Given the description of an element on the screen output the (x, y) to click on. 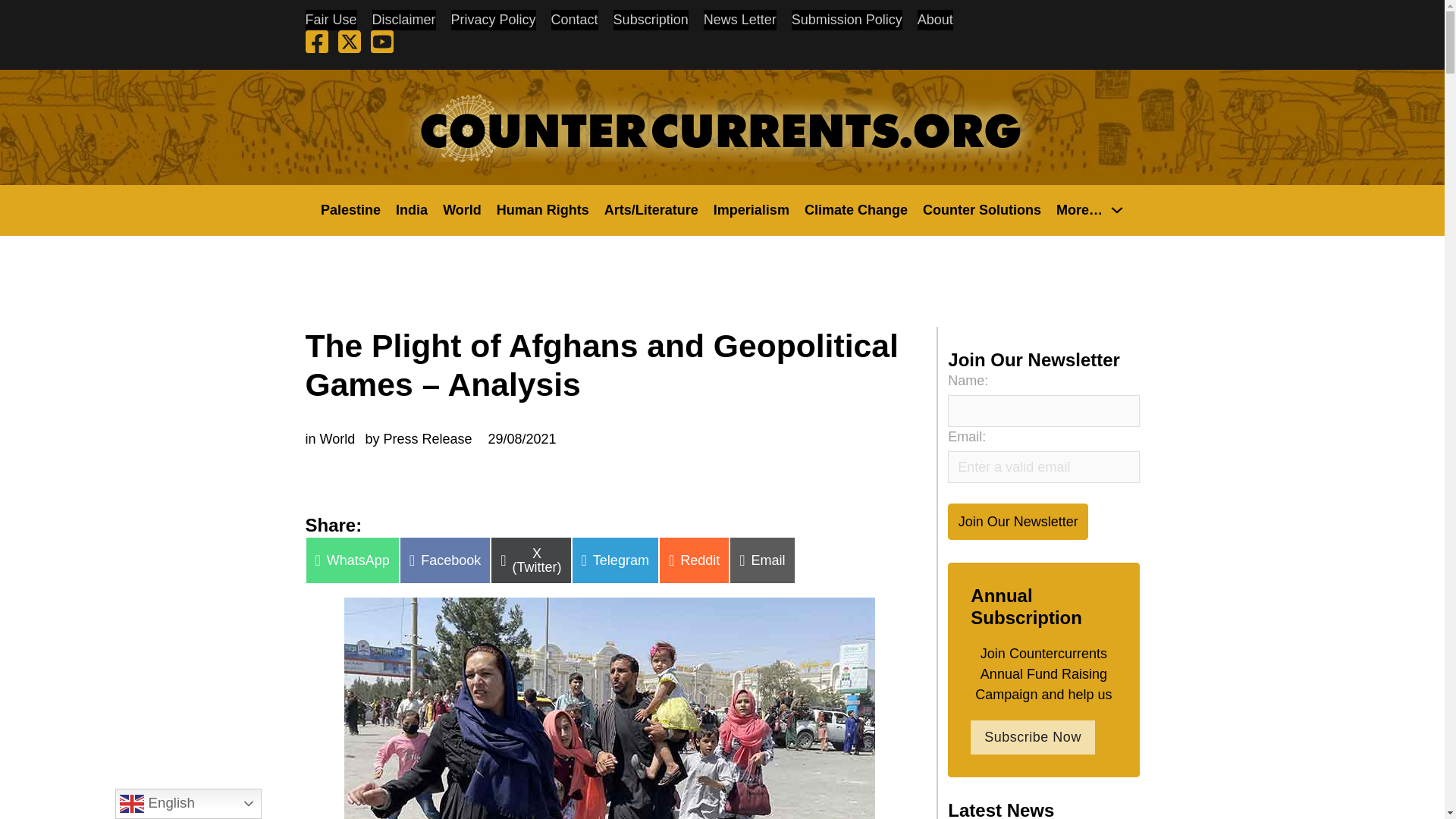
World (461, 209)
India (412, 209)
Privacy Policy (493, 19)
Subscription (650, 19)
About (935, 19)
News Letter (739, 19)
Human Rights (542, 209)
Imperialism (751, 209)
Climate Change (856, 209)
Palestine (350, 209)
Join Our Newsletter (1017, 520)
Submission Policy (847, 19)
Counter Solutions (982, 209)
Contact (574, 19)
Disclaimer (403, 19)
